Given the description of an element on the screen output the (x, y) to click on. 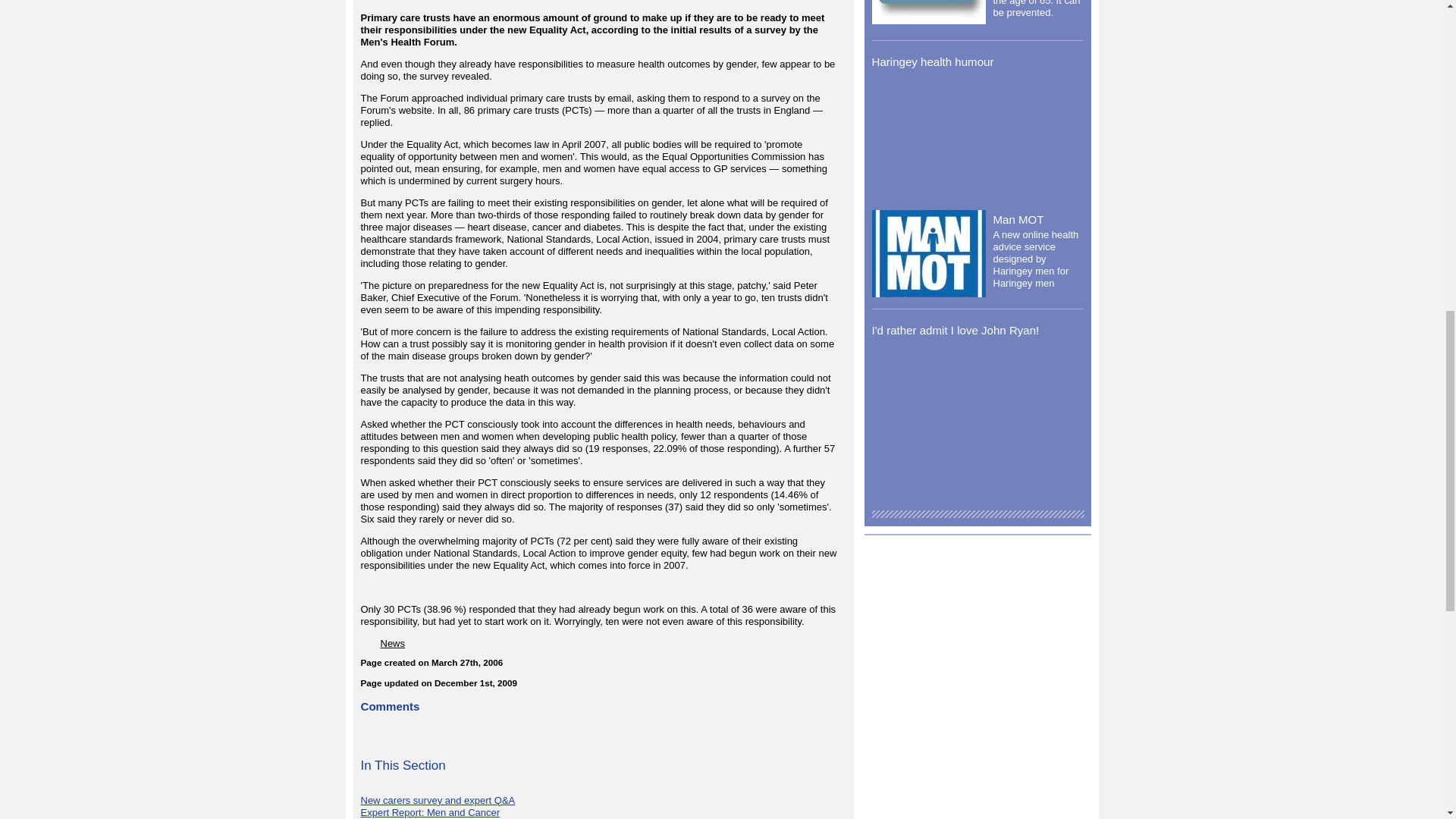
Man MOT logo new (928, 253)
Donate 150 (928, 12)
